Given the description of an element on the screen output the (x, y) to click on. 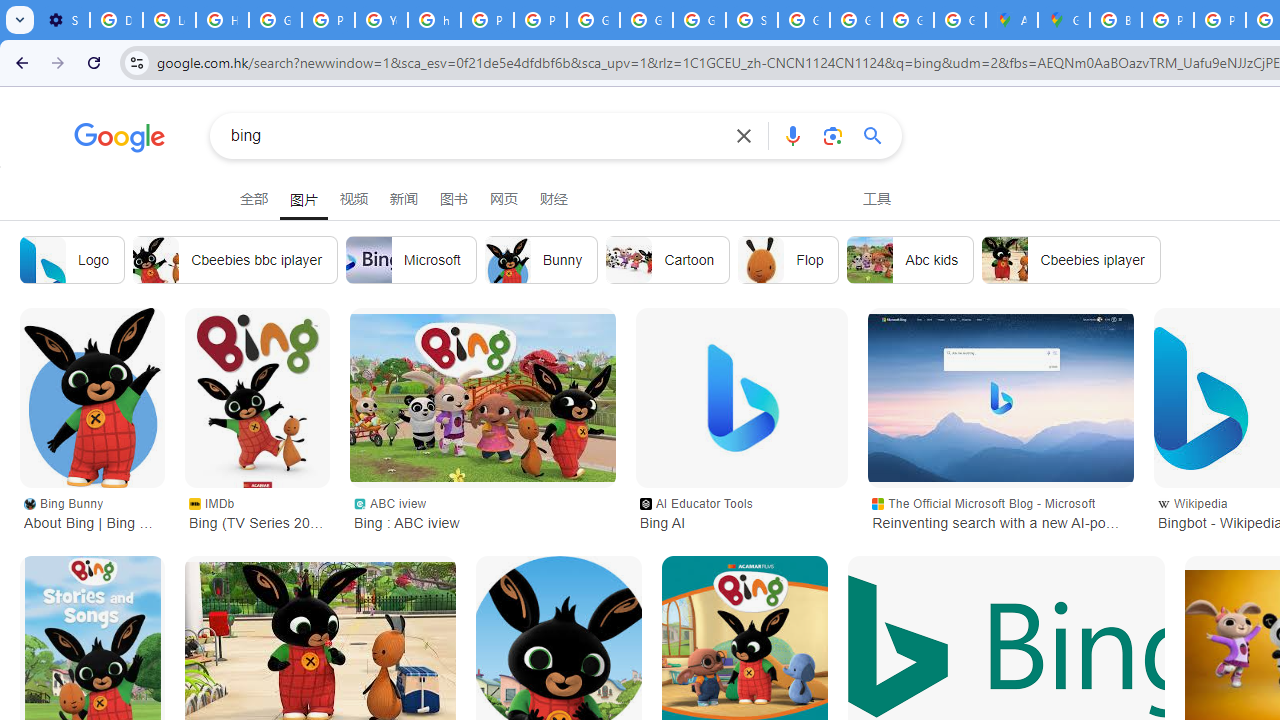
Settings - Customize profile (63, 20)
Bing AI (741, 398)
Bing : ABC iview (482, 397)
Privacy Help Center - Policies Help (1219, 20)
